Given the description of an element on the screen output the (x, y) to click on. 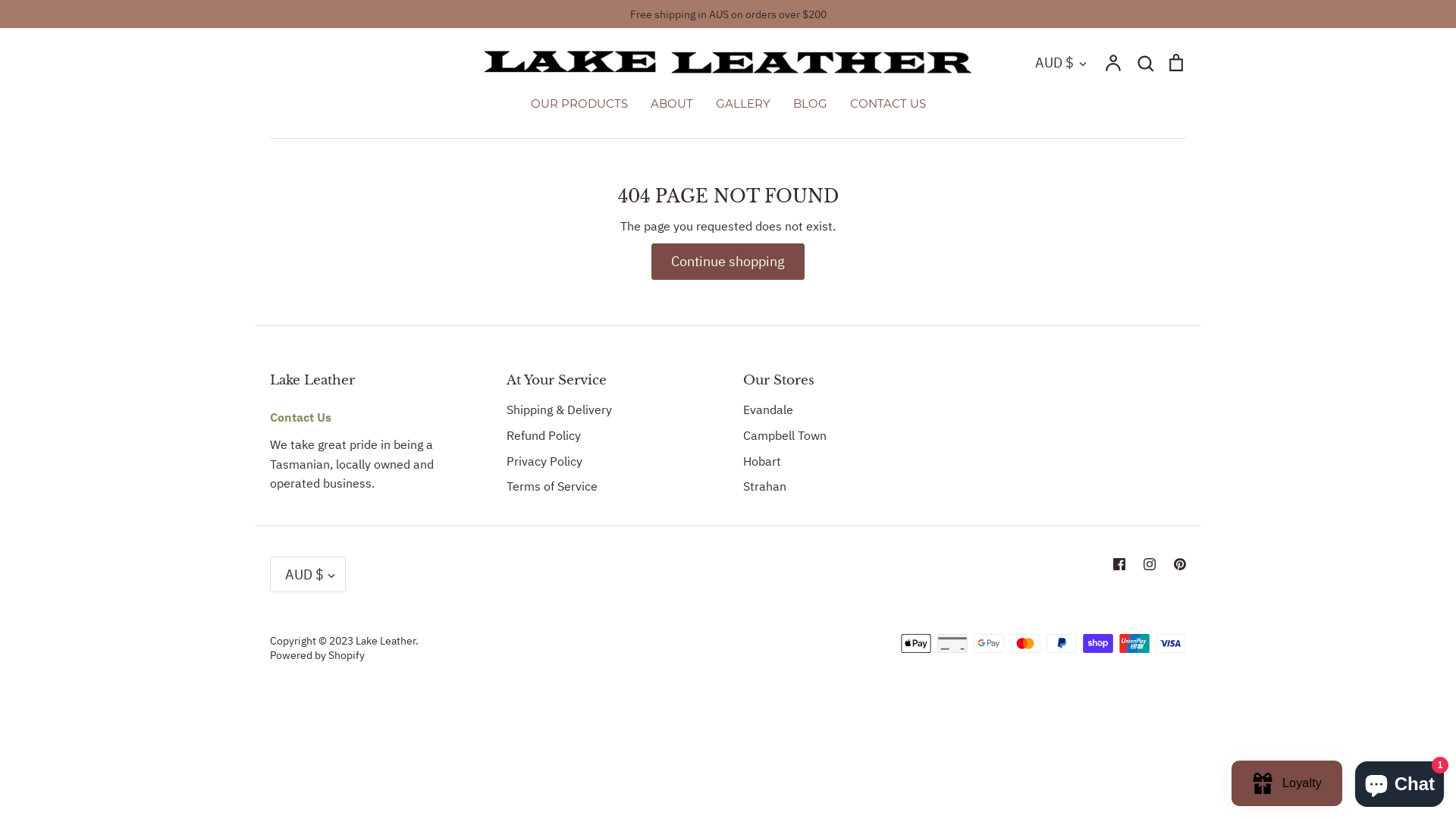
Cart Element type: text (1176, 62)
Shopify online store chat Element type: hover (1399, 780)
Strahan Element type: text (764, 486)
Lake Leather Element type: text (385, 640)
Terms of Service Element type: text (551, 486)
CONTACT US Element type: text (887, 103)
Search Element type: text (1144, 62)
Evandale Element type: text (768, 410)
Campbell Town Element type: text (784, 435)
ABOUT Element type: text (671, 103)
Hobart Element type: text (762, 461)
Privacy Policy Element type: text (544, 461)
Refund Policy Element type: text (543, 435)
OUR PRODUCTS Element type: text (578, 103)
Shipping & Delivery Element type: text (558, 410)
Powered by Shopify Element type: text (316, 655)
AUD $ Element type: text (307, 574)
Account Element type: text (1113, 62)
AUD $ Element type: text (1061, 62)
Continue shopping Element type: text (727, 261)
Contact Us Element type: text (300, 416)
GALLERY Element type: text (742, 103)
BLOG Element type: text (810, 103)
